Given the description of an element on the screen output the (x, y) to click on. 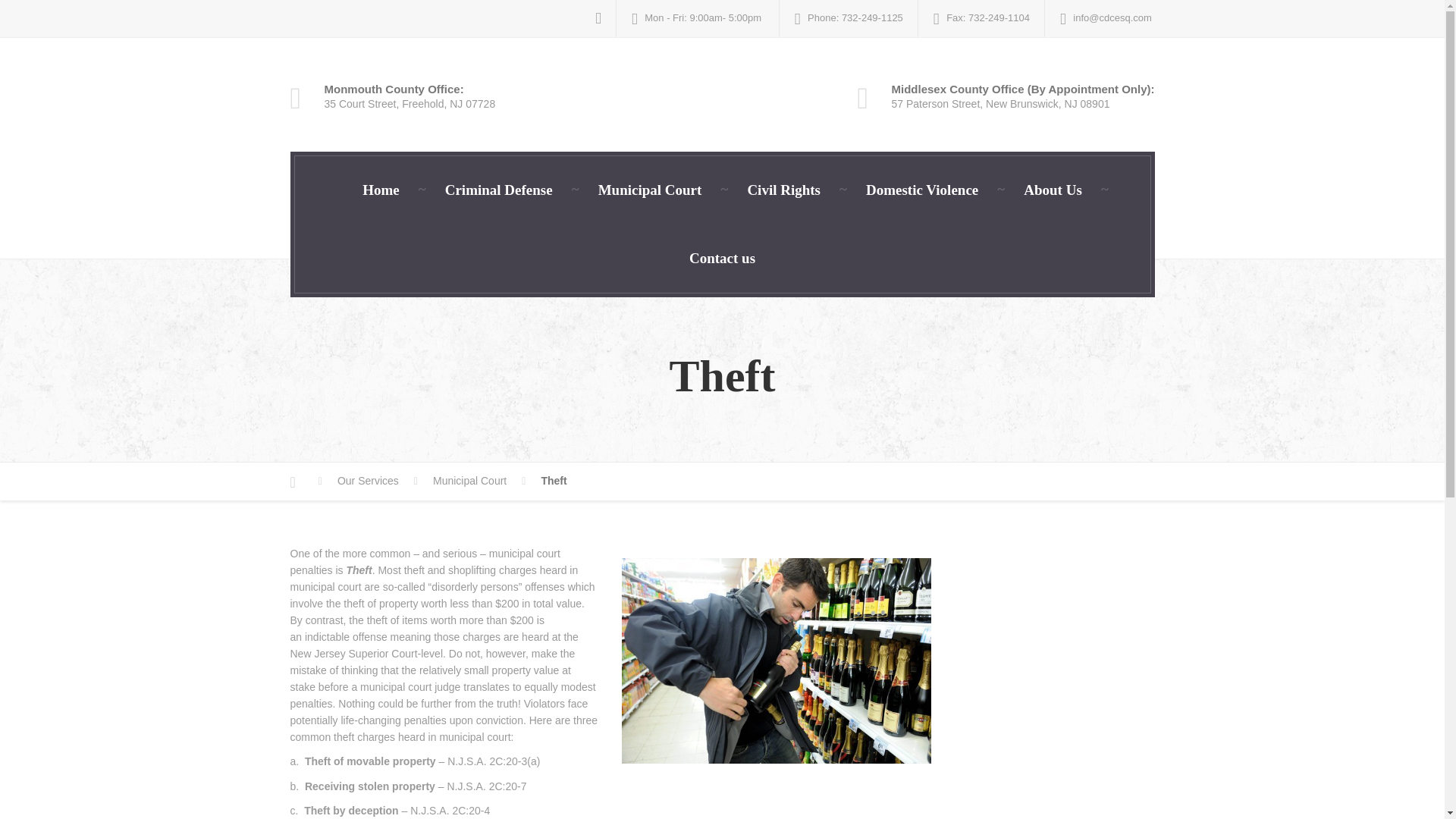
Contact us (721, 258)
Criminal Defense (498, 189)
Civil Rights (783, 189)
Home (380, 189)
Phone: 732-249-1125 (848, 18)
Go to Municipal Court. (478, 481)
Municipal Court (478, 481)
Our Services (377, 481)
About Us (1053, 189)
Municipal Court (650, 189)
Go to Our Services. (377, 481)
Domestic Violence (922, 189)
